Given the description of an element on the screen output the (x, y) to click on. 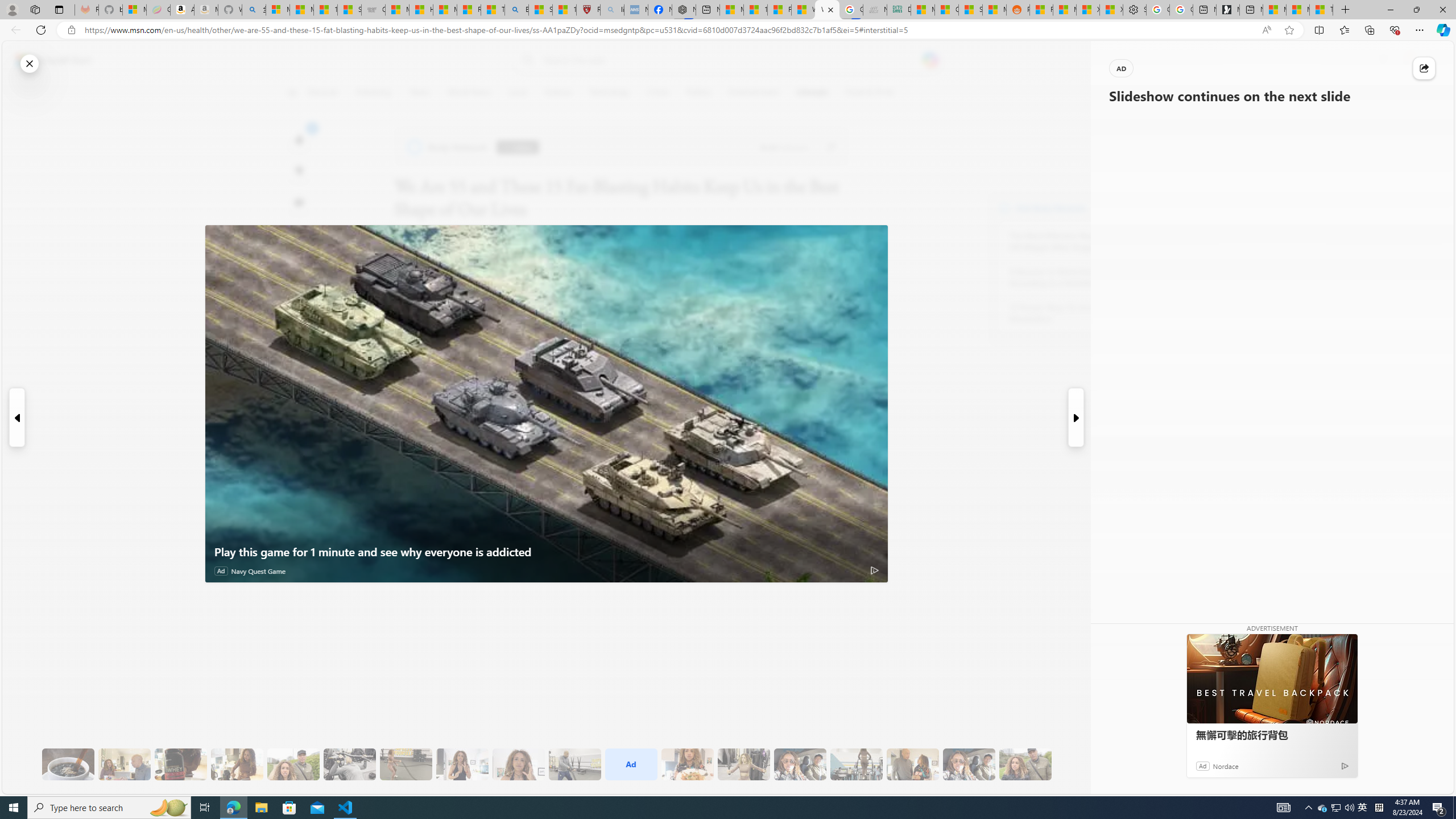
R******* | Trusted Community Engagement and Contributions (1041, 9)
Fitness - MSN (779, 9)
19 It Also Simplifies Thiings (968, 764)
Play this game for 1 minute and see why everyone is addicted (546, 551)
